Given the description of an element on the screen output the (x, y) to click on. 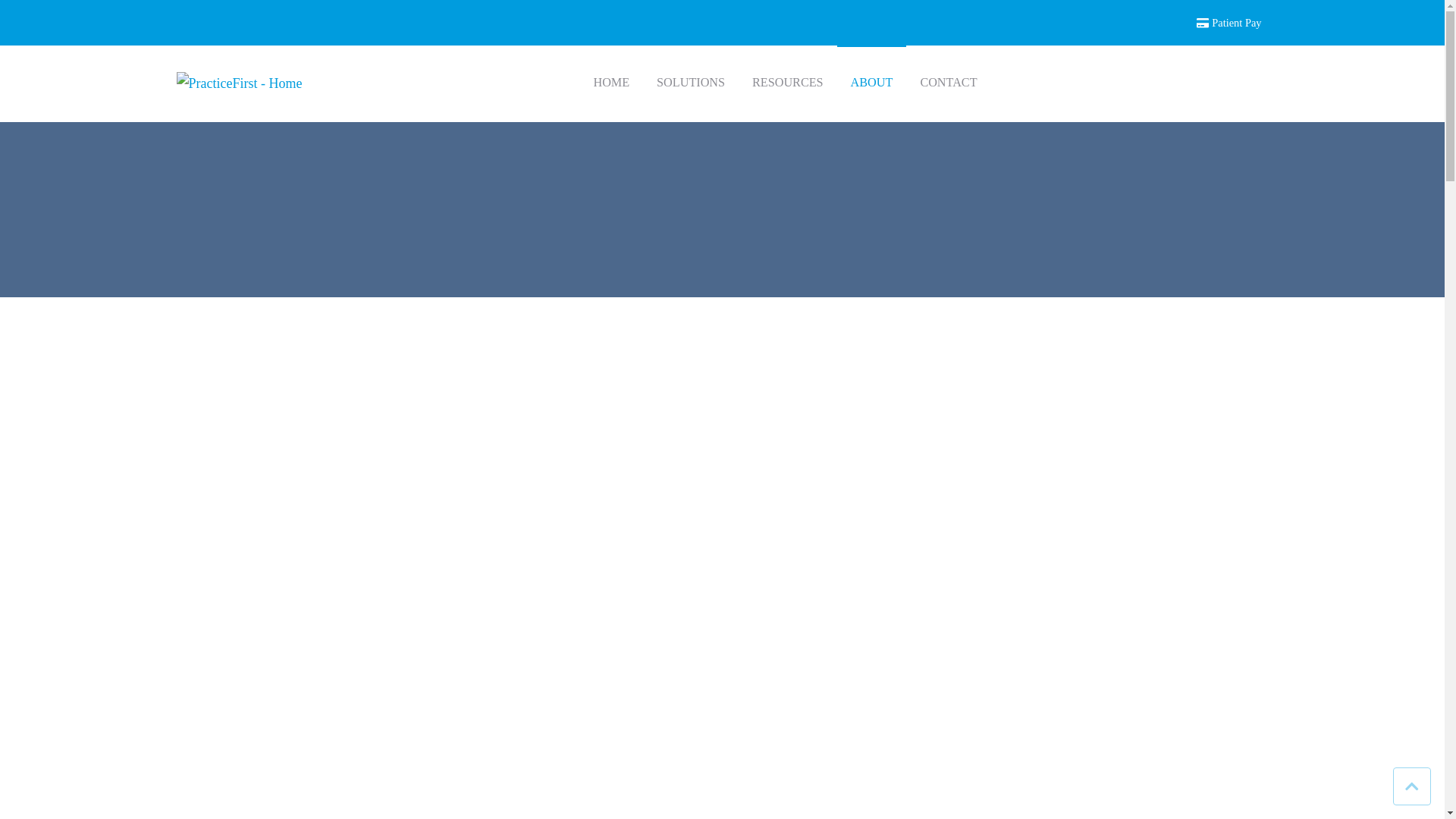
SOLUTIONS (690, 83)
RESOURCES (787, 83)
ABOUT (872, 83)
Patient Pay (1228, 22)
CONTACT (947, 83)
